Given the description of an element on the screen output the (x, y) to click on. 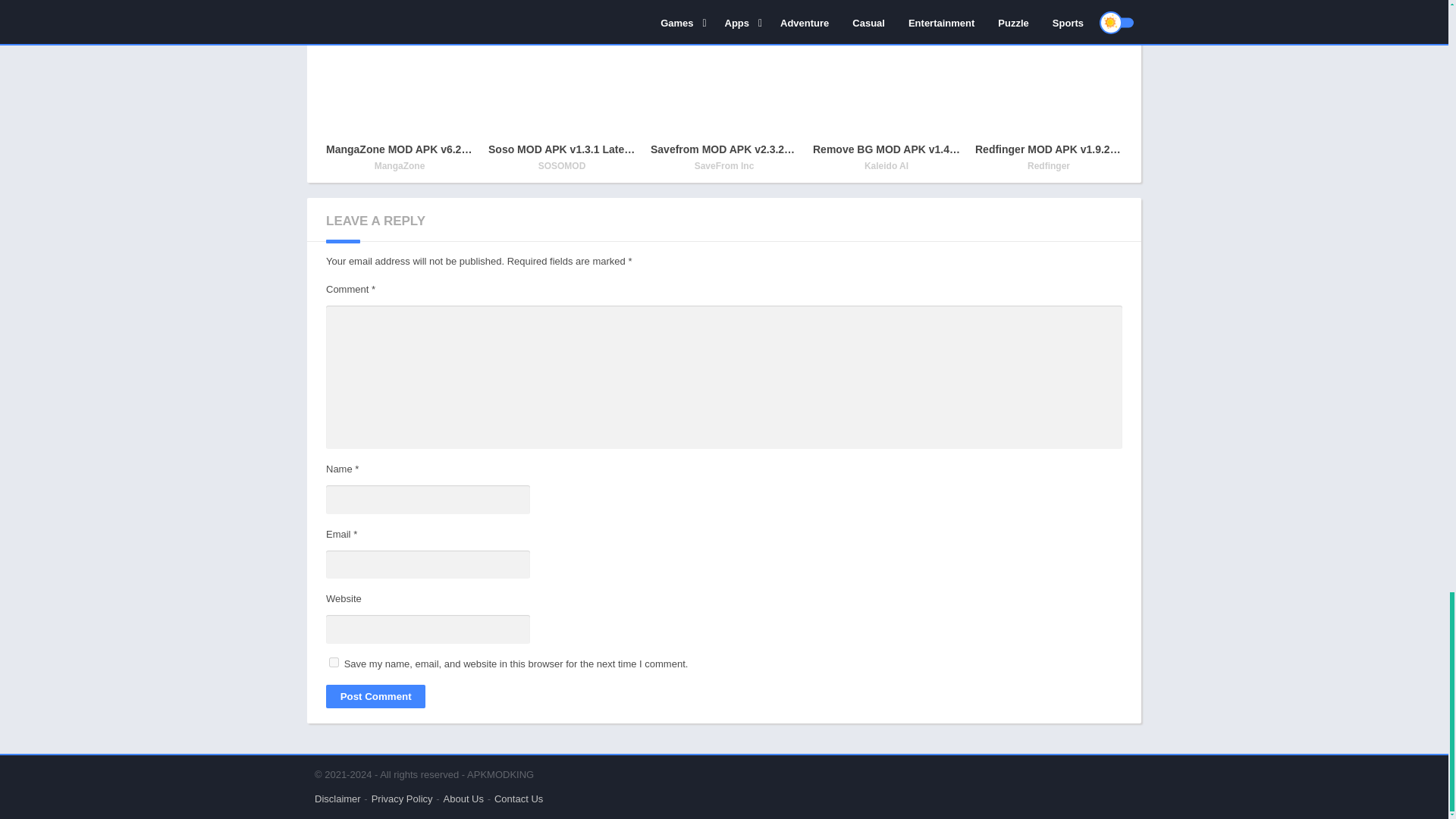
yes (334, 662)
Post Comment (375, 696)
